Given the description of an element on the screen output the (x, y) to click on. 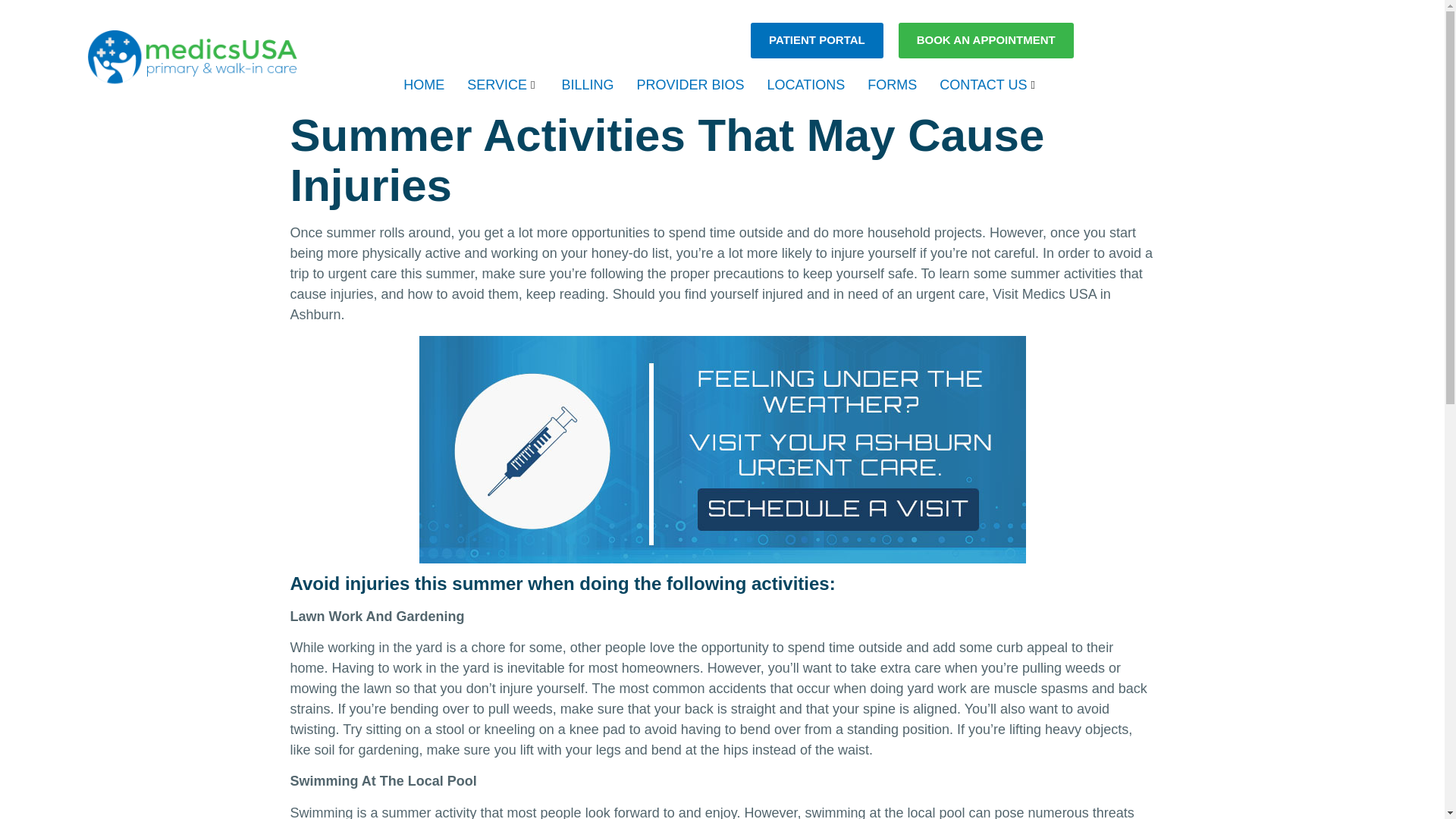
HOME (423, 85)
PATIENT PORTAL (817, 40)
PROVIDER BIOS (689, 85)
BOOK AN APPOINTMENT (986, 40)
CONTACT US (988, 85)
BILLING (587, 85)
SERVICE (502, 85)
LOCATIONS (805, 85)
FORMS (892, 85)
